Given the description of an element on the screen output the (x, y) to click on. 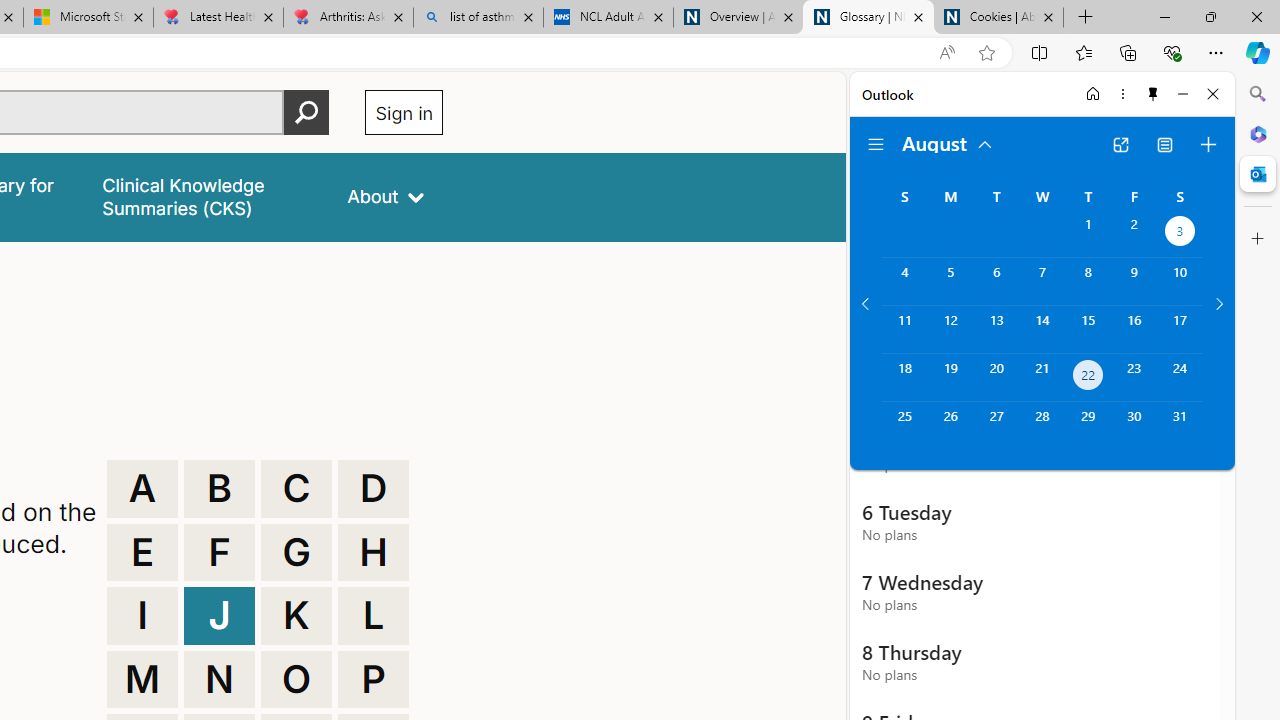
Monday, August 5, 2024.  (950, 281)
I (142, 615)
Open in new tab (1120, 144)
